Given the description of an element on the screen output the (x, y) to click on. 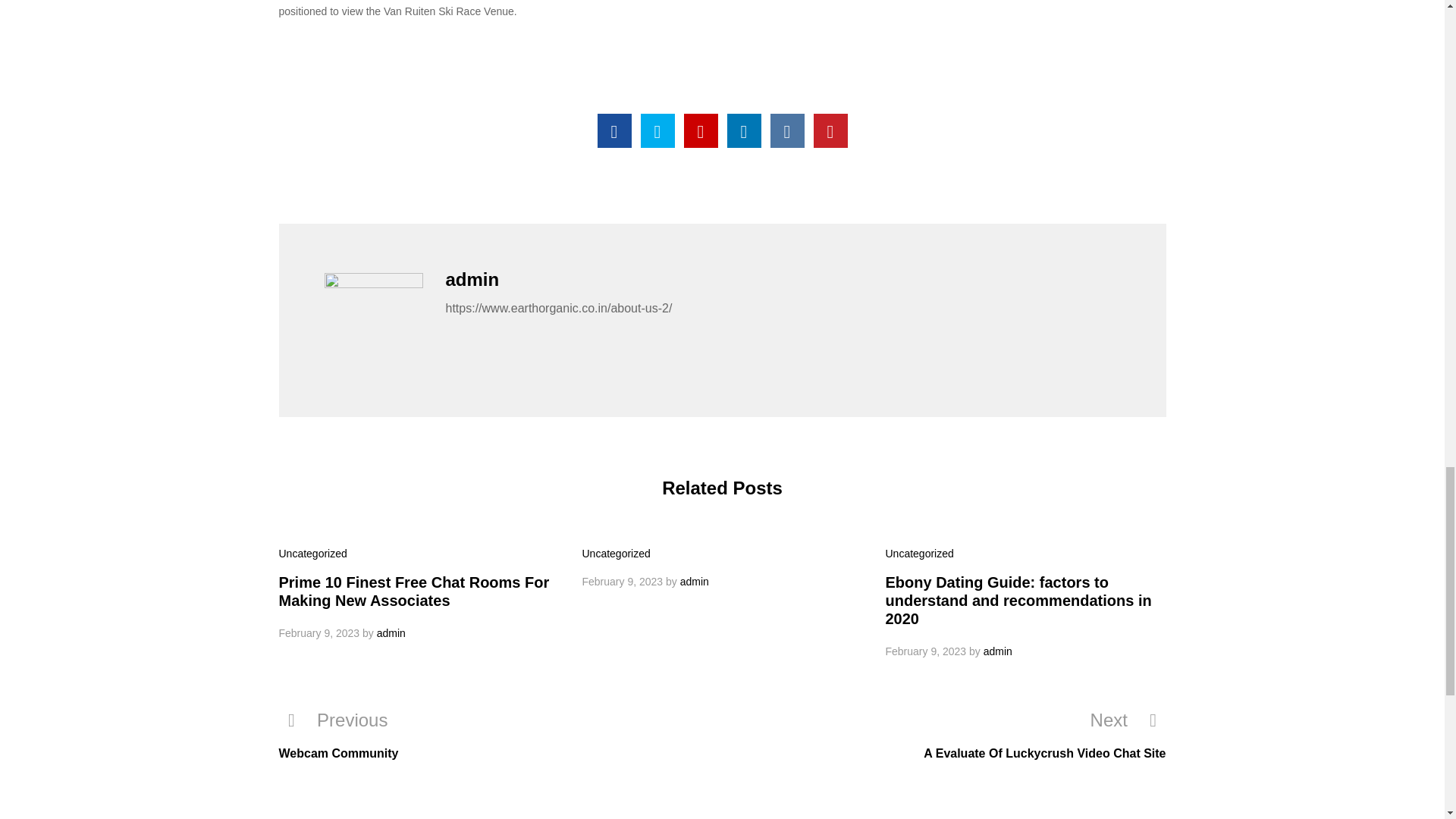
February 9, 2023 (622, 581)
Uncategorized (616, 553)
Uncategorized (919, 553)
admin (694, 581)
Prime 10 Finest Free Chat Rooms For Making New Associates (414, 591)
admin (391, 633)
Uncategorized (313, 553)
February 9, 2023 (319, 633)
Mountain Cams (613, 130)
